Given the description of an element on the screen output the (x, y) to click on. 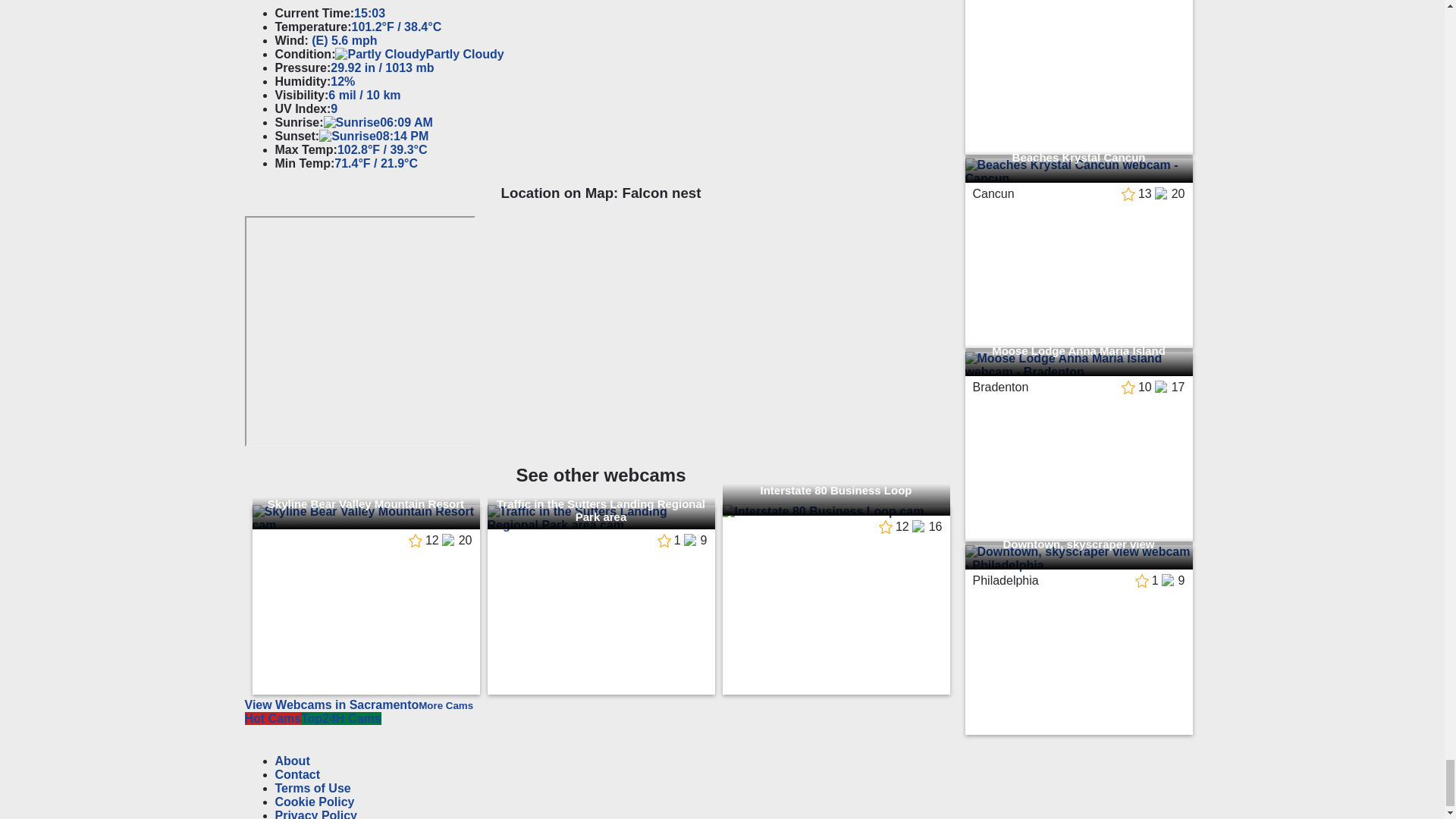
See Skyline Bear Valley Mountain Resort (365, 518)
See Traffic in the Sutters Landing Regional Park area (600, 518)
See Interstate 80 Business Loop (835, 511)
